Given the description of an element on the screen output the (x, y) to click on. 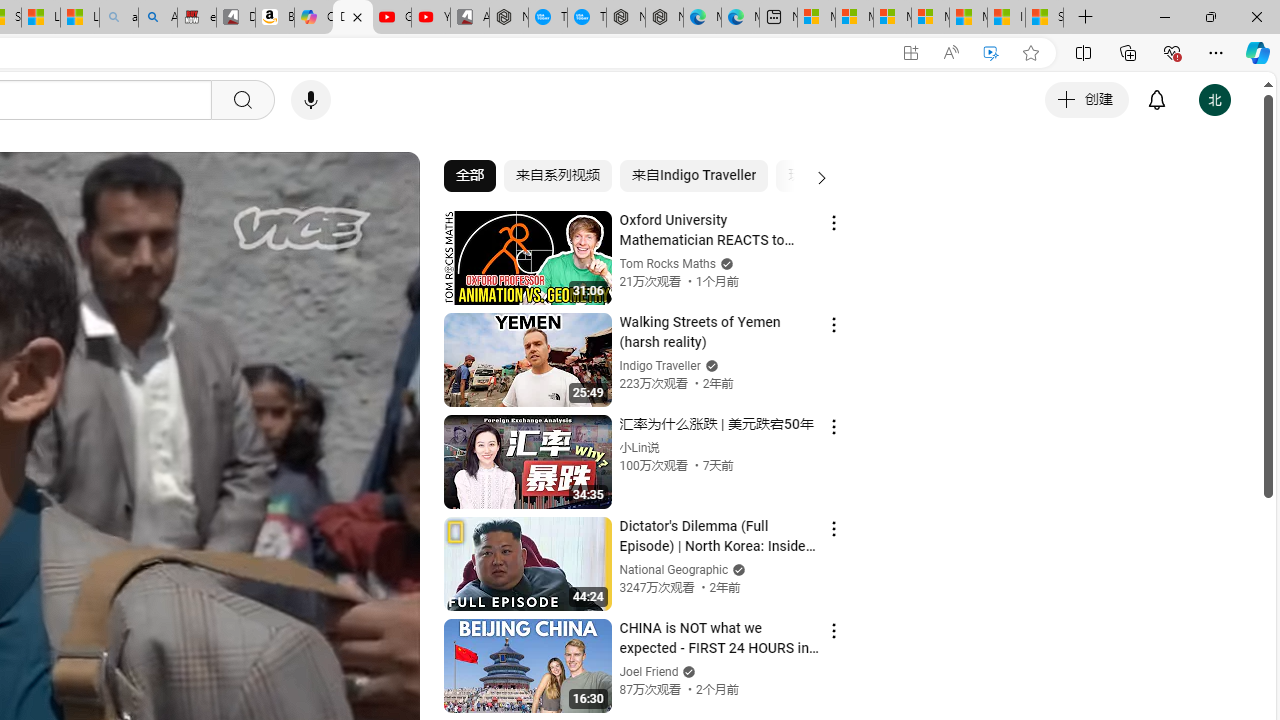
All Cubot phones (469, 17)
YouTube Kids - An App Created for Kids to Explore Content (431, 17)
Microsoft account | Microsoft Account Privacy Settings (853, 17)
I Gained 20 Pounds of Muscle in 30 Days! | Watch (1006, 17)
